Given the description of an element on the screen output the (x, y) to click on. 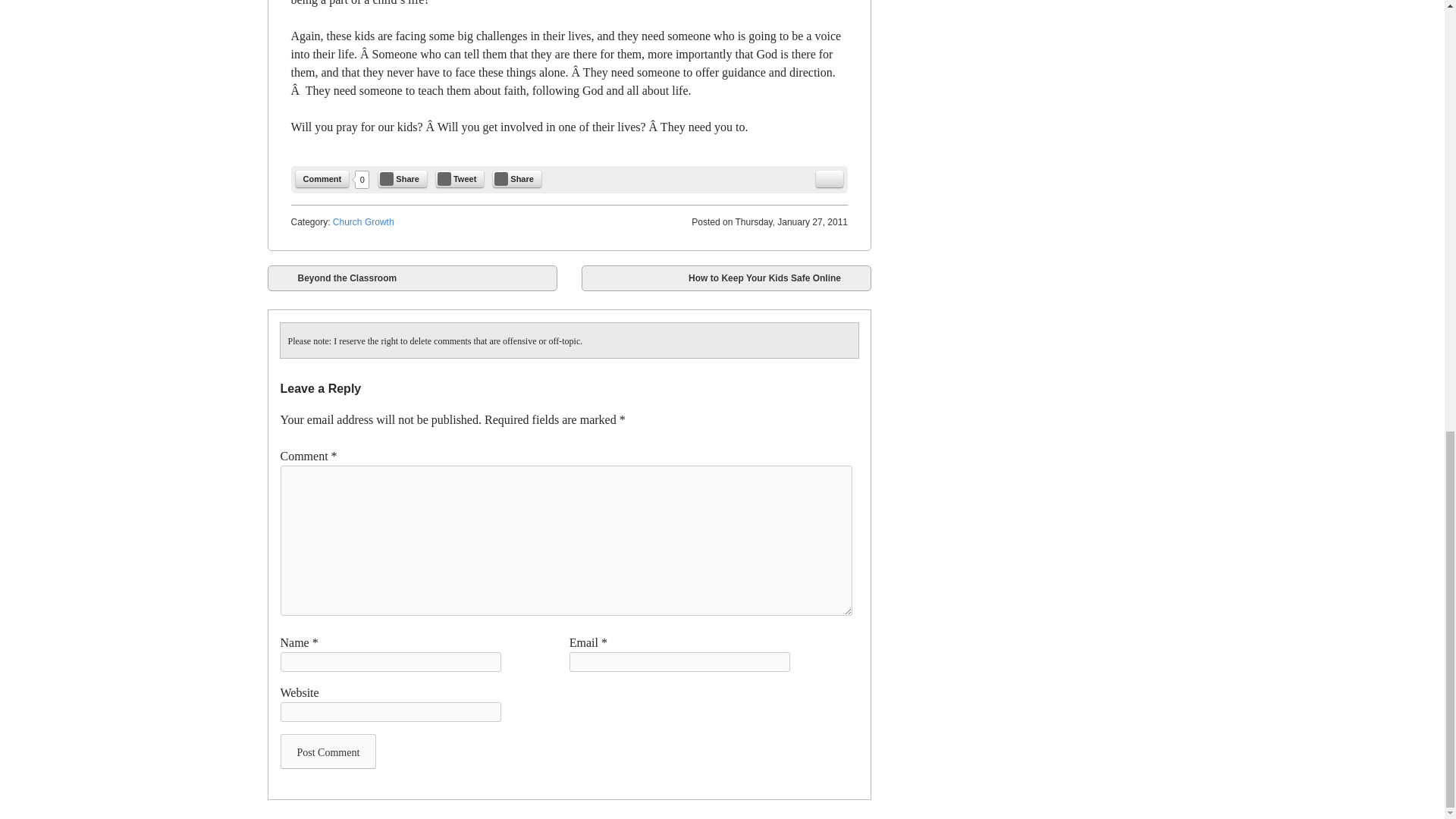
Tweet (459, 178)
Post Comment (329, 751)
Share on LinkedIn (517, 178)
Share (517, 178)
Church Growth (363, 222)
Share (402, 178)
email (829, 178)
Post Comment (329, 751)
Share on Facebook (402, 178)
Tweet this Post (459, 178)
